Given the description of an element on the screen output the (x, y) to click on. 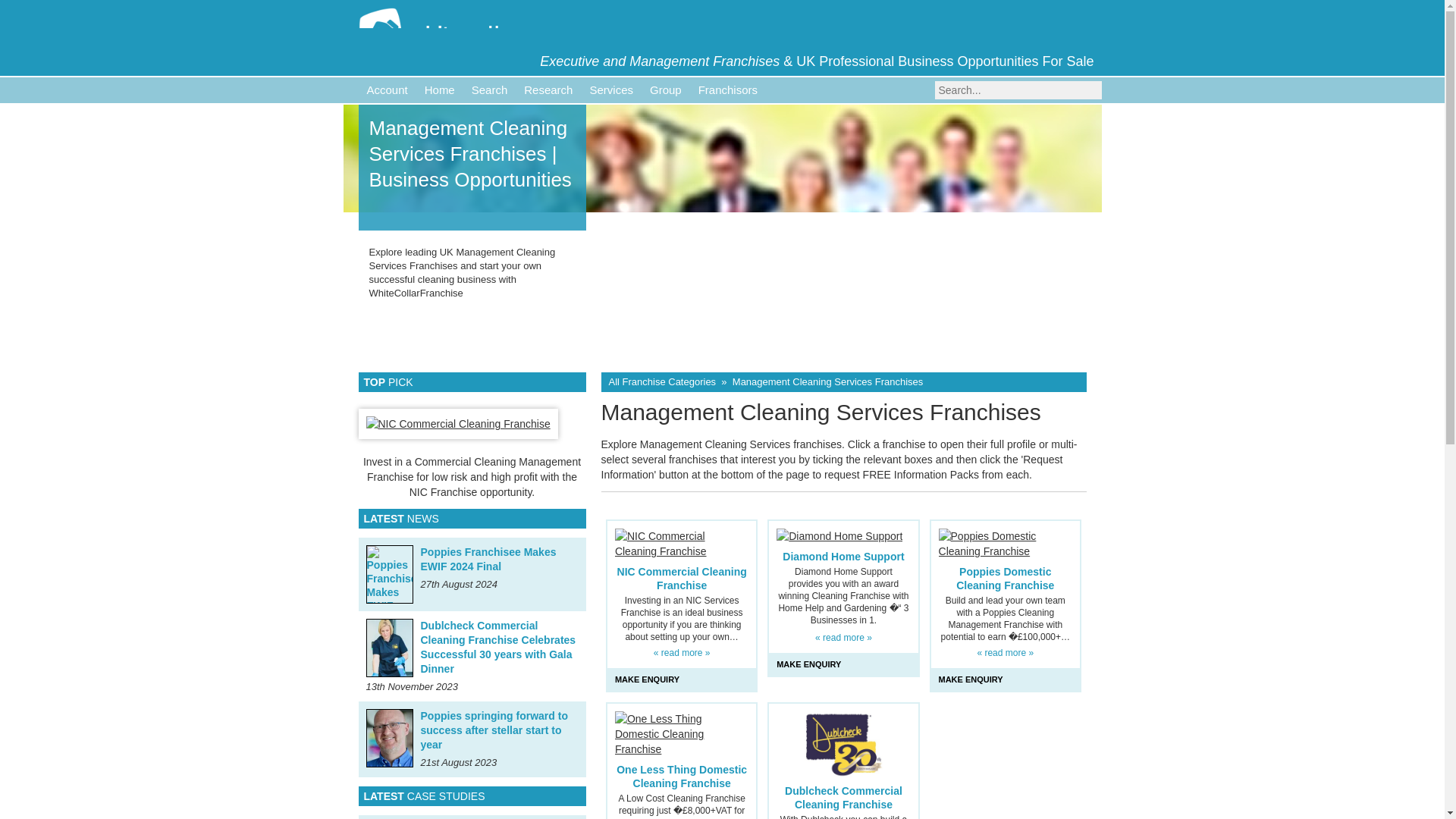
Services (611, 89)
Franchisors (727, 89)
Search (489, 89)
Group (666, 89)
Account (386, 89)
NIC Commercial Cleaning Franchise (681, 578)
Research (547, 89)
Management Cleaning Services Franchises (827, 381)
Home (439, 89)
All Franchise Categories (662, 381)
